Given the description of an element on the screen output the (x, y) to click on. 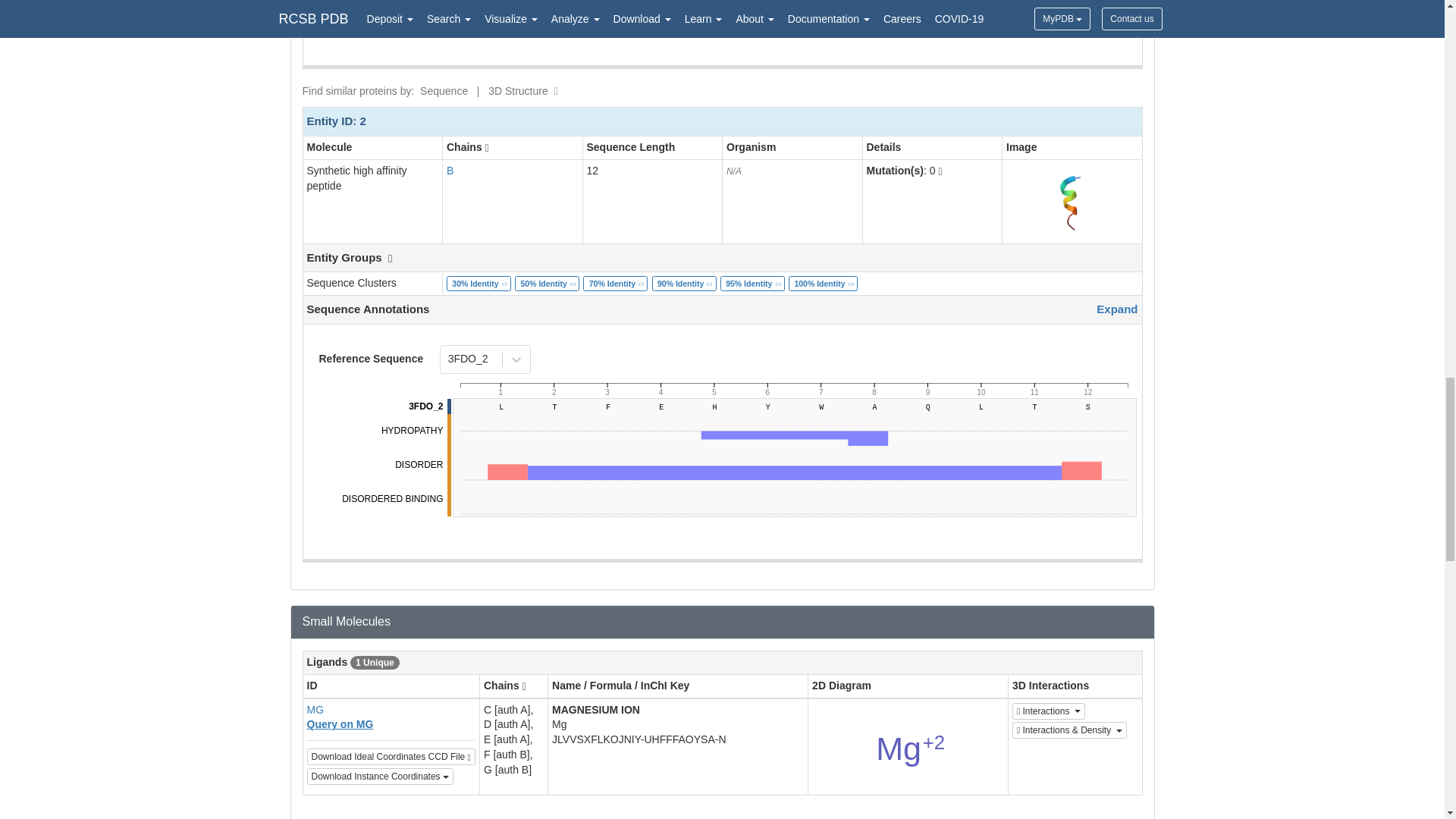
LTFEHYWAQLTS (792, 386)
